Given the description of an element on the screen output the (x, y) to click on. 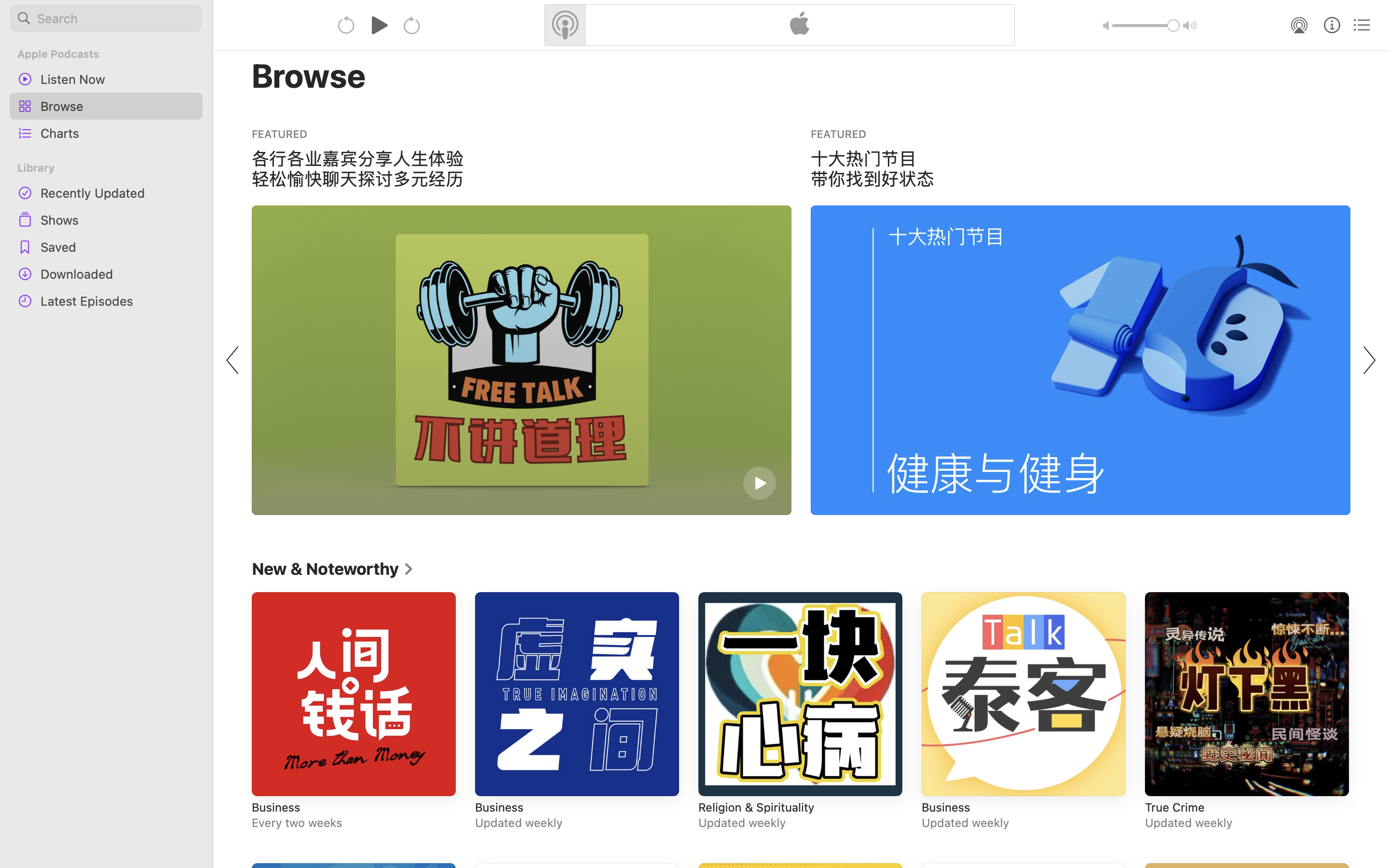
1.0 Element type: AXSlider (1145, 25)
